Given the description of an element on the screen output the (x, y) to click on. 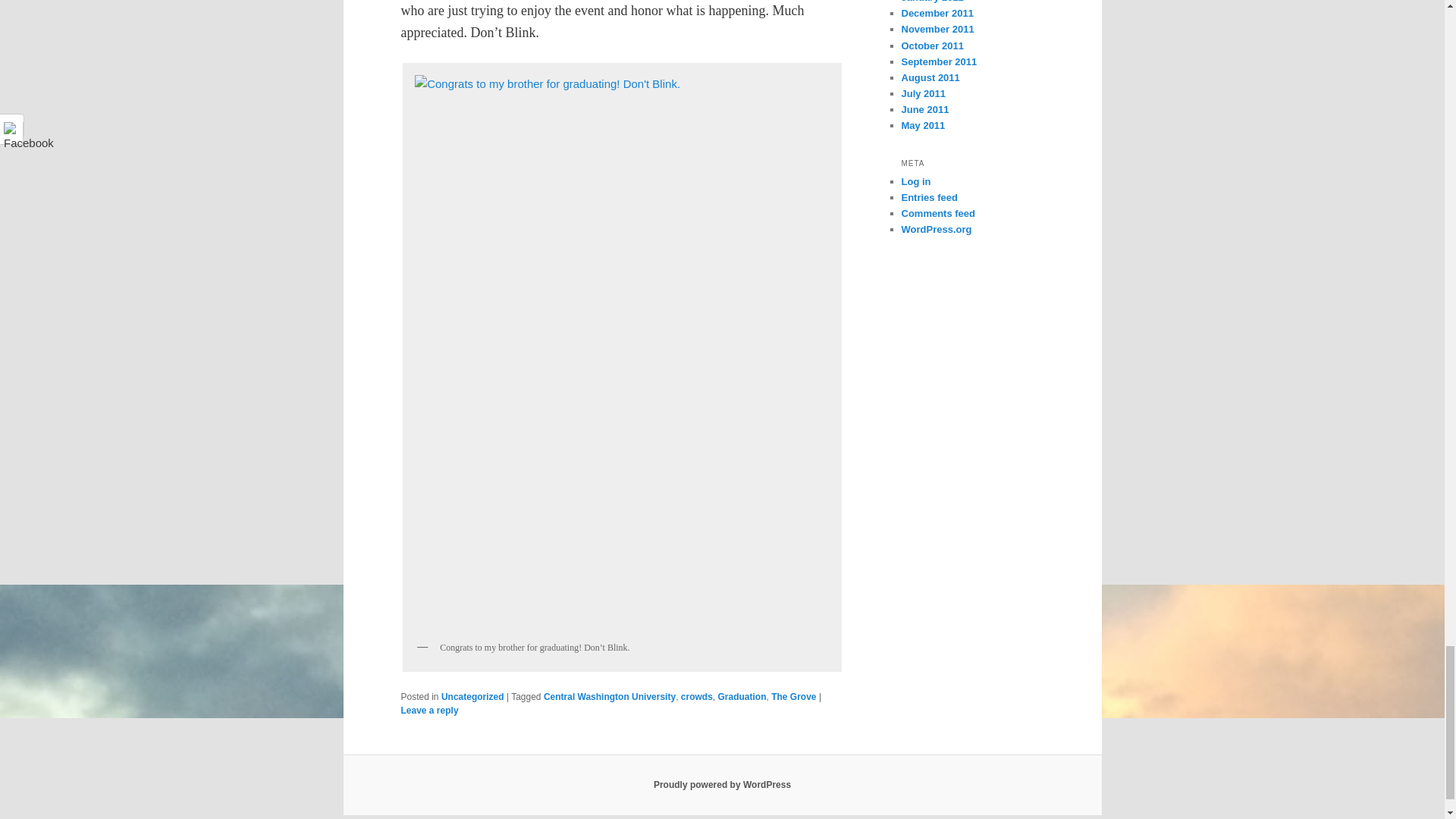
The Grove (793, 696)
Graduation (741, 696)
crowds (697, 696)
Leave a reply (429, 710)
Semantic Personal Publishing Platform (721, 784)
Uncategorized (472, 696)
Central Washington University (609, 696)
